Given the description of an element on the screen output the (x, y) to click on. 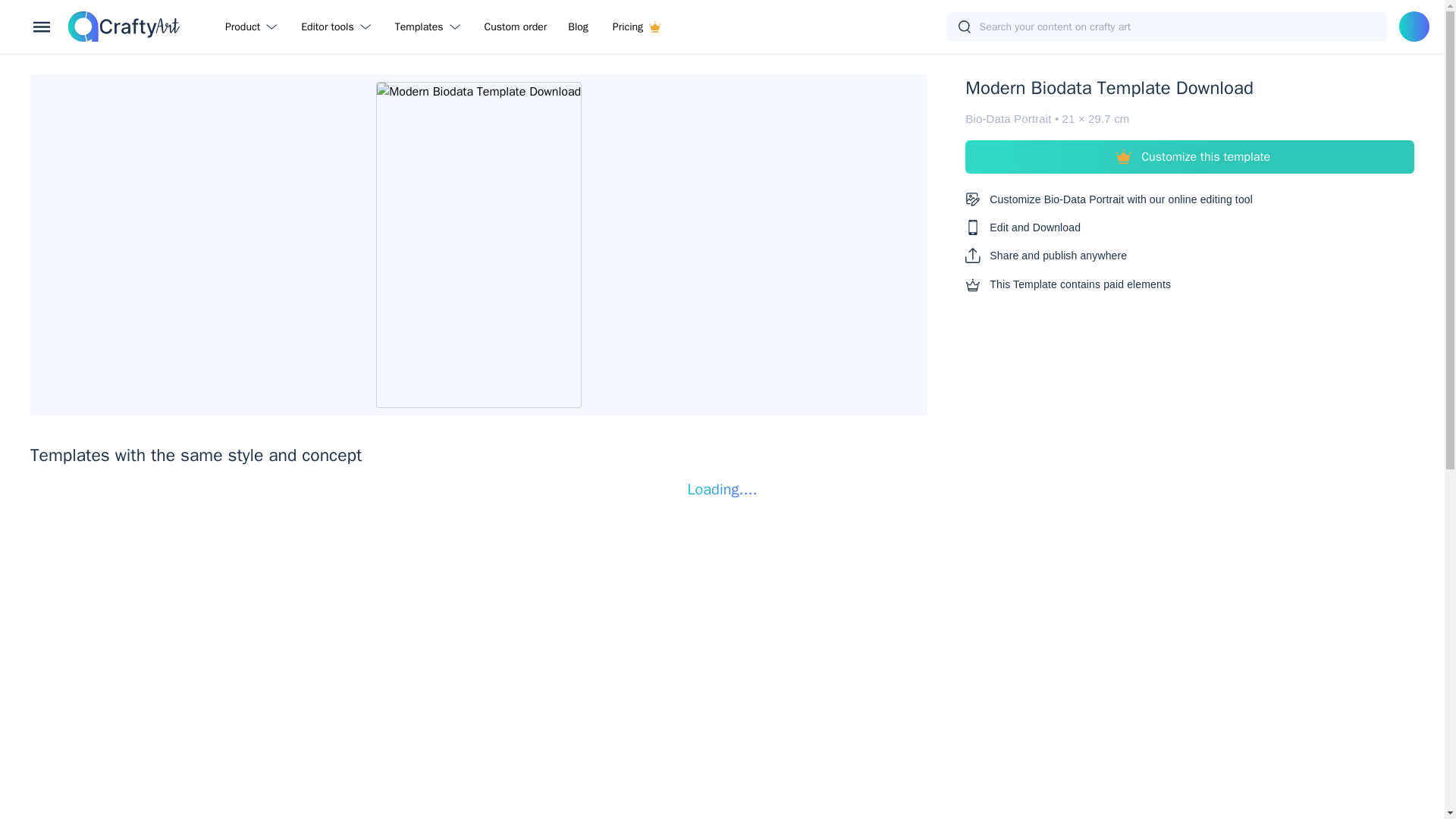
Templates (430, 26)
Pricing (635, 26)
Editor tools (338, 26)
Custom order (516, 26)
Blog (577, 26)
Product (253, 26)
